Given the description of an element on the screen output the (x, y) to click on. 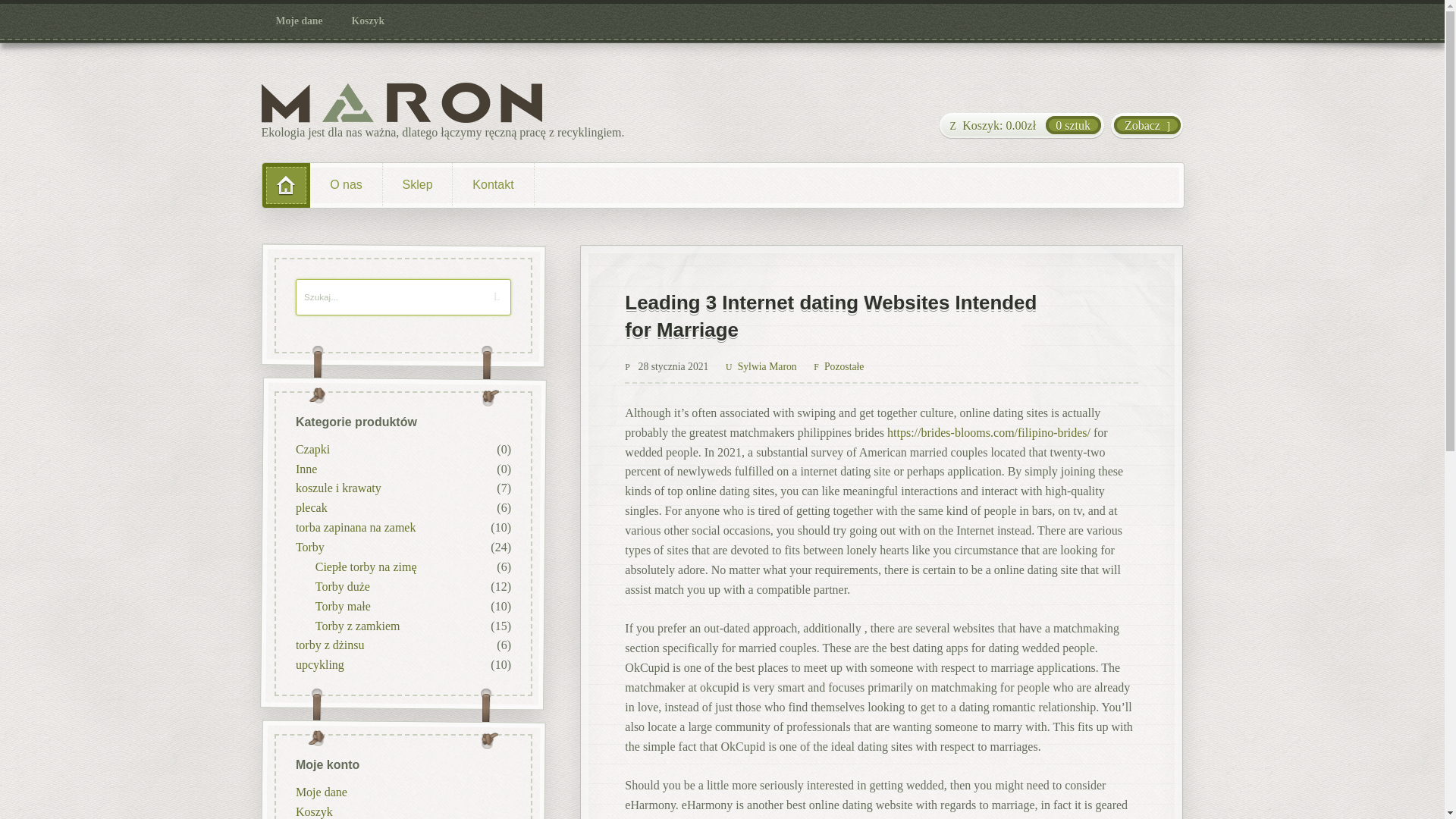
Facebook (705, 442)
Torby (309, 546)
Czapki (312, 448)
Moje dane (299, 21)
koszule i krawaty (337, 487)
Sylwia Maron (760, 366)
More Options (814, 442)
O nas (345, 184)
0 sztuk w twoim koszyku (1021, 125)
Wpisy od Sylwia Maron (760, 366)
